Given the description of an element on the screen output the (x, y) to click on. 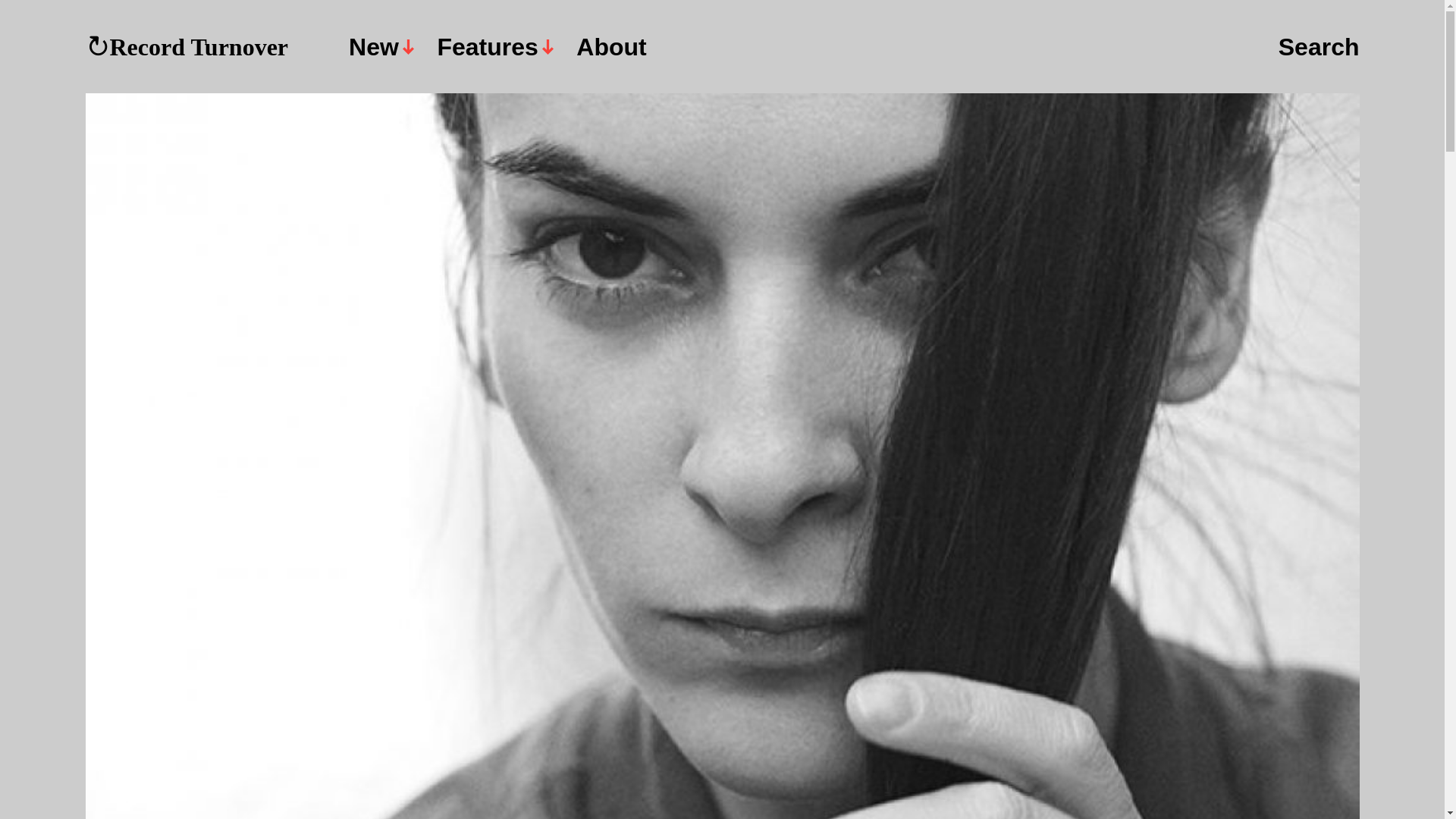
Search (1318, 47)
New (381, 47)
Features (494, 47)
About (611, 47)
